Given the description of an element on the screen output the (x, y) to click on. 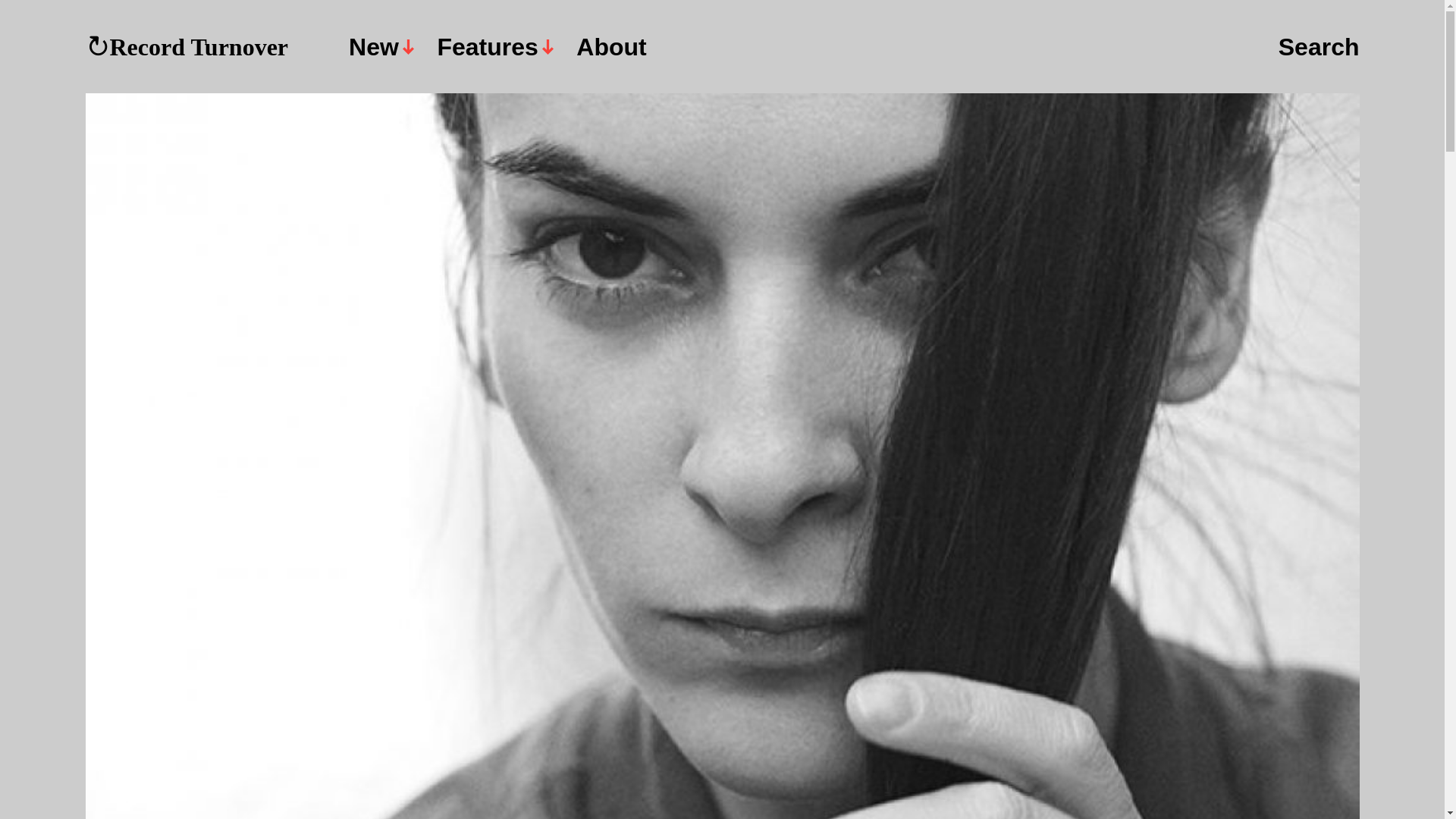
Search (1318, 47)
New (381, 47)
Features (494, 47)
About (611, 47)
